Given the description of an element on the screen output the (x, y) to click on. 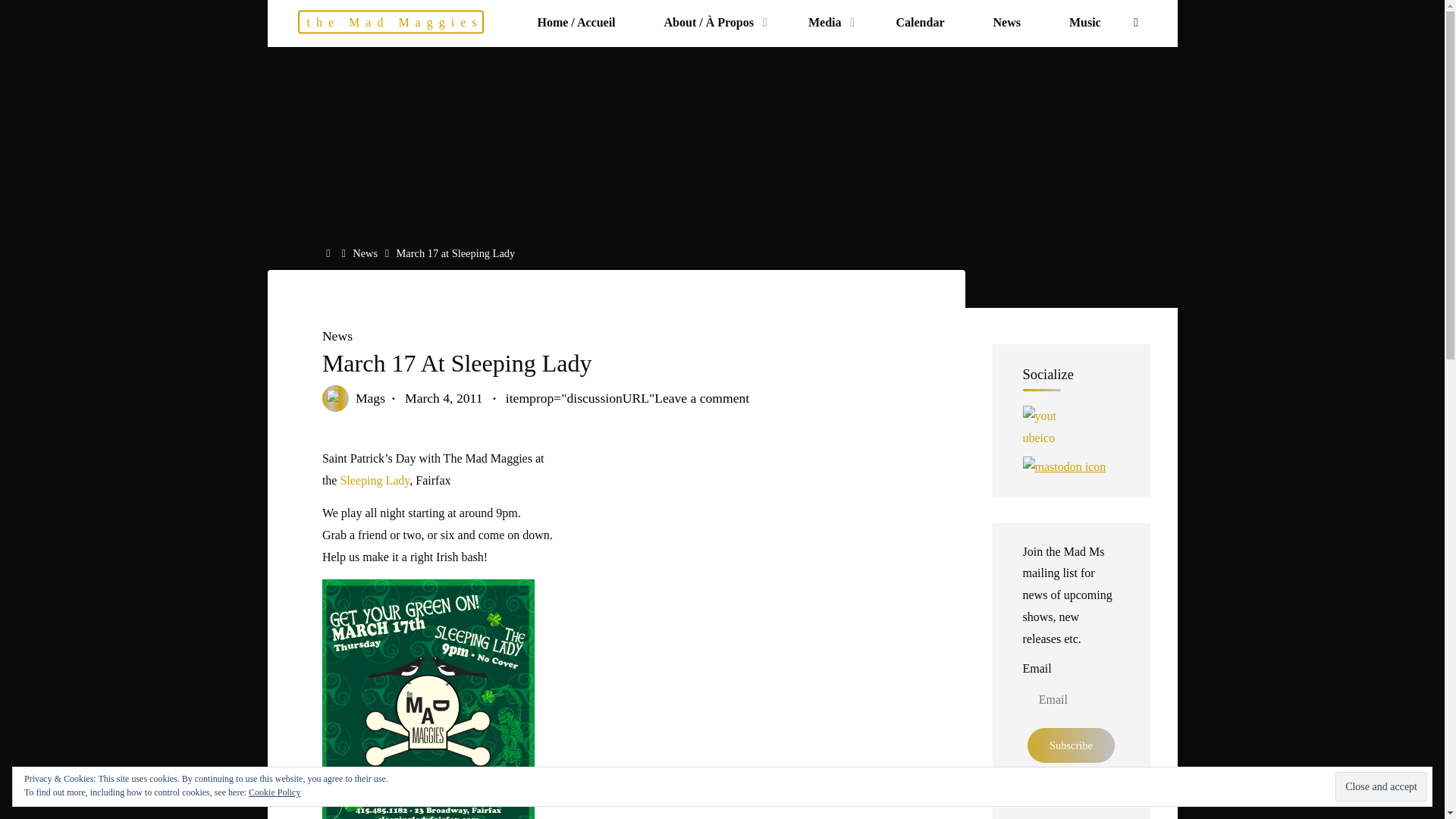
View all posts by Mags (369, 396)
the Mad Maggies (390, 22)
Home (330, 253)
Close and accept (1380, 786)
Jump to comments (626, 397)
  --- hard to describe, easy to love --- (390, 22)
